Given the description of an element on the screen output the (x, y) to click on. 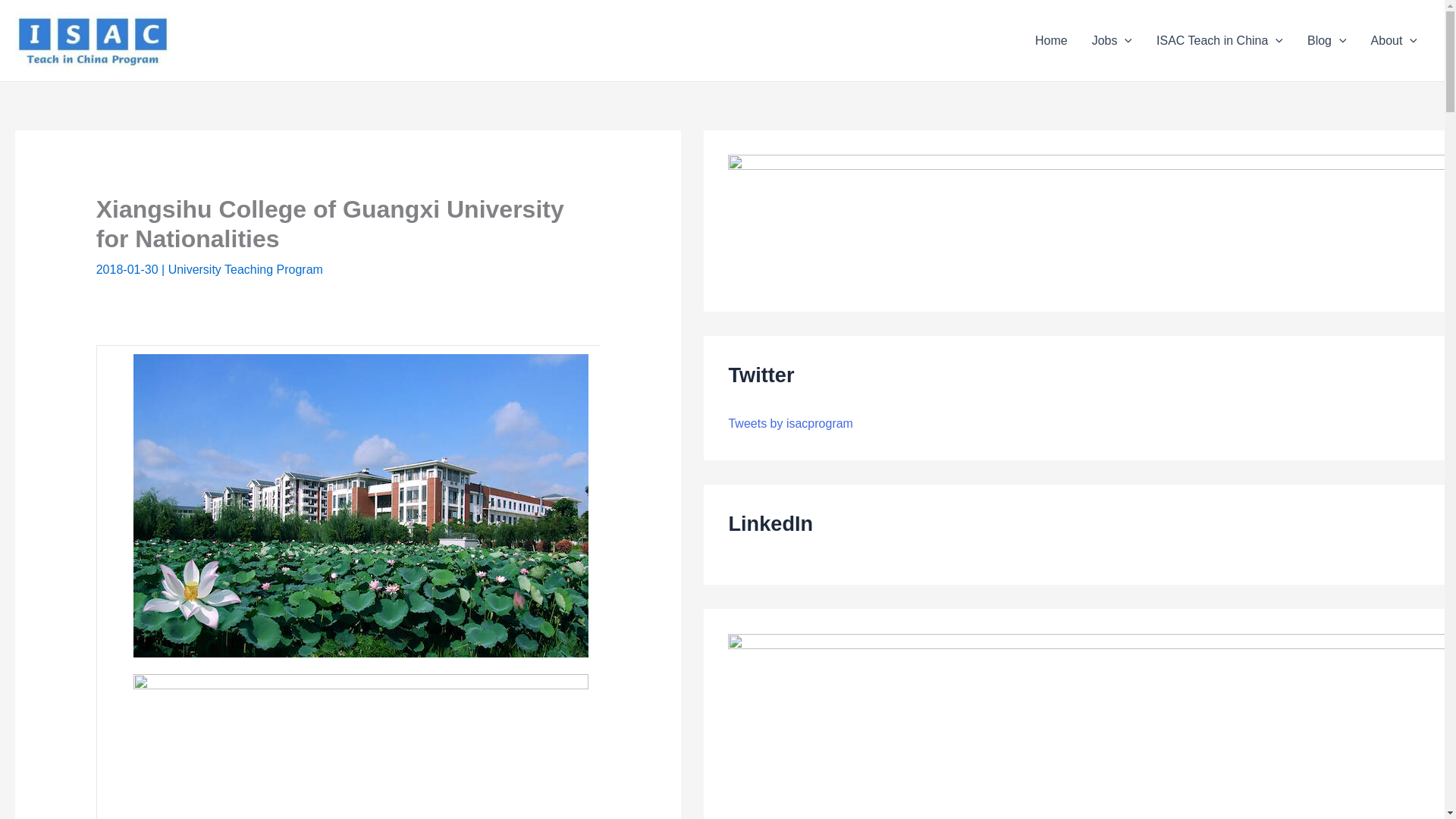
Home (1051, 40)
Jobs (1112, 40)
About (1393, 40)
Blog (1326, 40)
ISAC Teach in China (1219, 40)
